Given the description of an element on the screen output the (x, y) to click on. 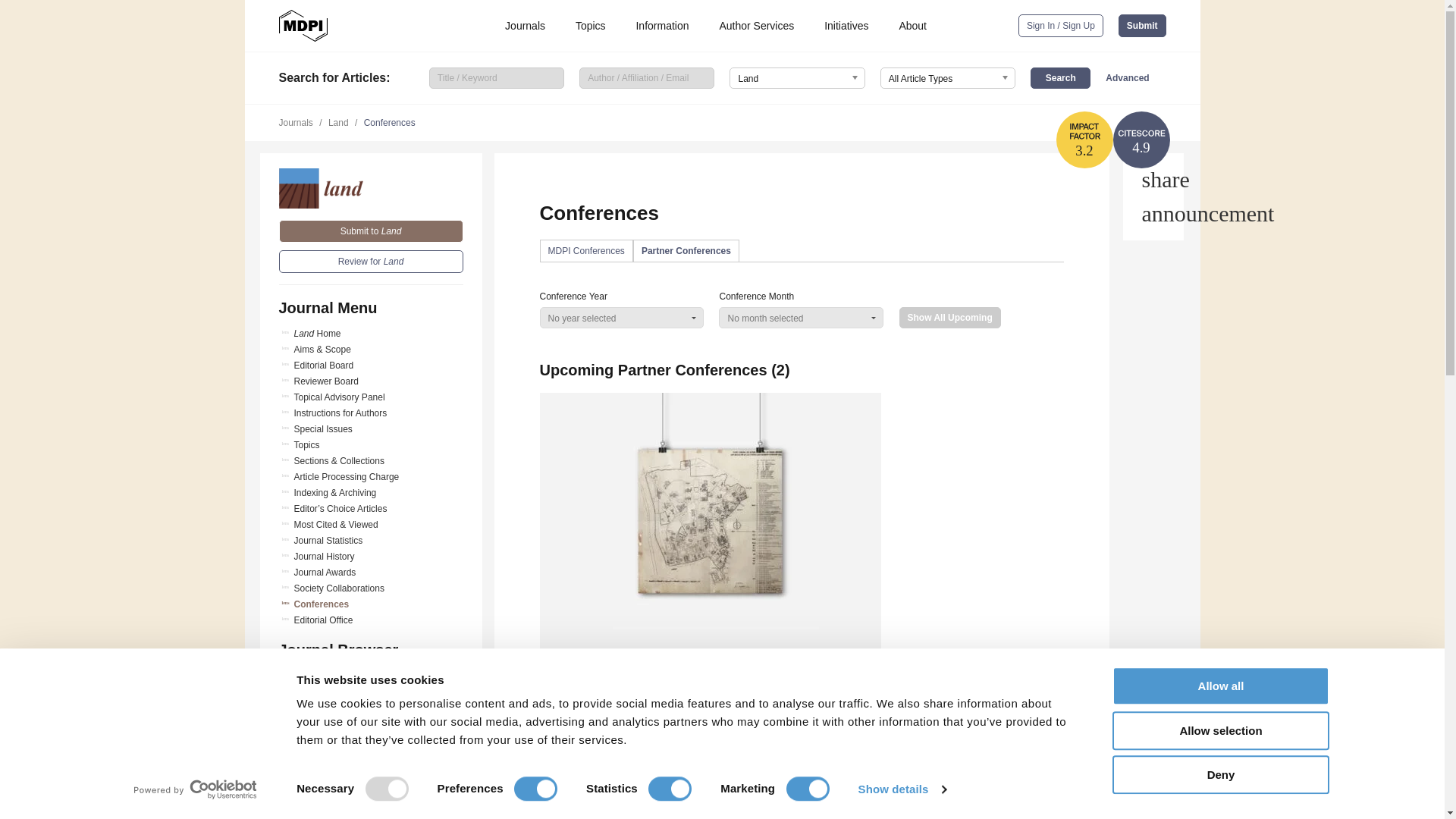
Search (1060, 77)
Search (1060, 77)
Show details (900, 789)
Go (371, 740)
Show All Upcoming (950, 317)
